Given the description of an element on the screen output the (x, y) to click on. 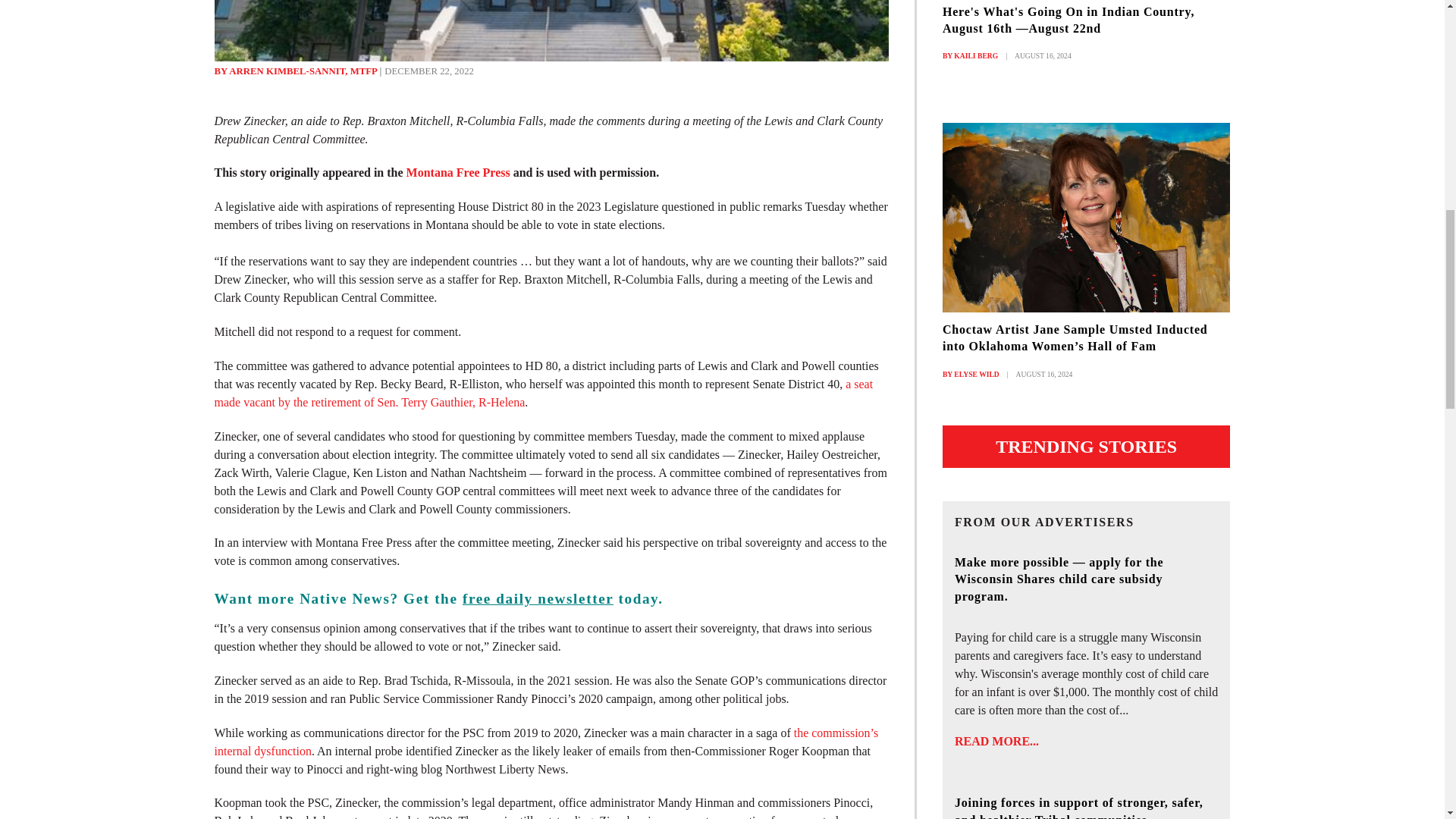
Montana Free Press  (459, 172)
Want more Native News? Get the free daily newsletter today. (438, 598)
